Given the description of an element on the screen output the (x, y) to click on. 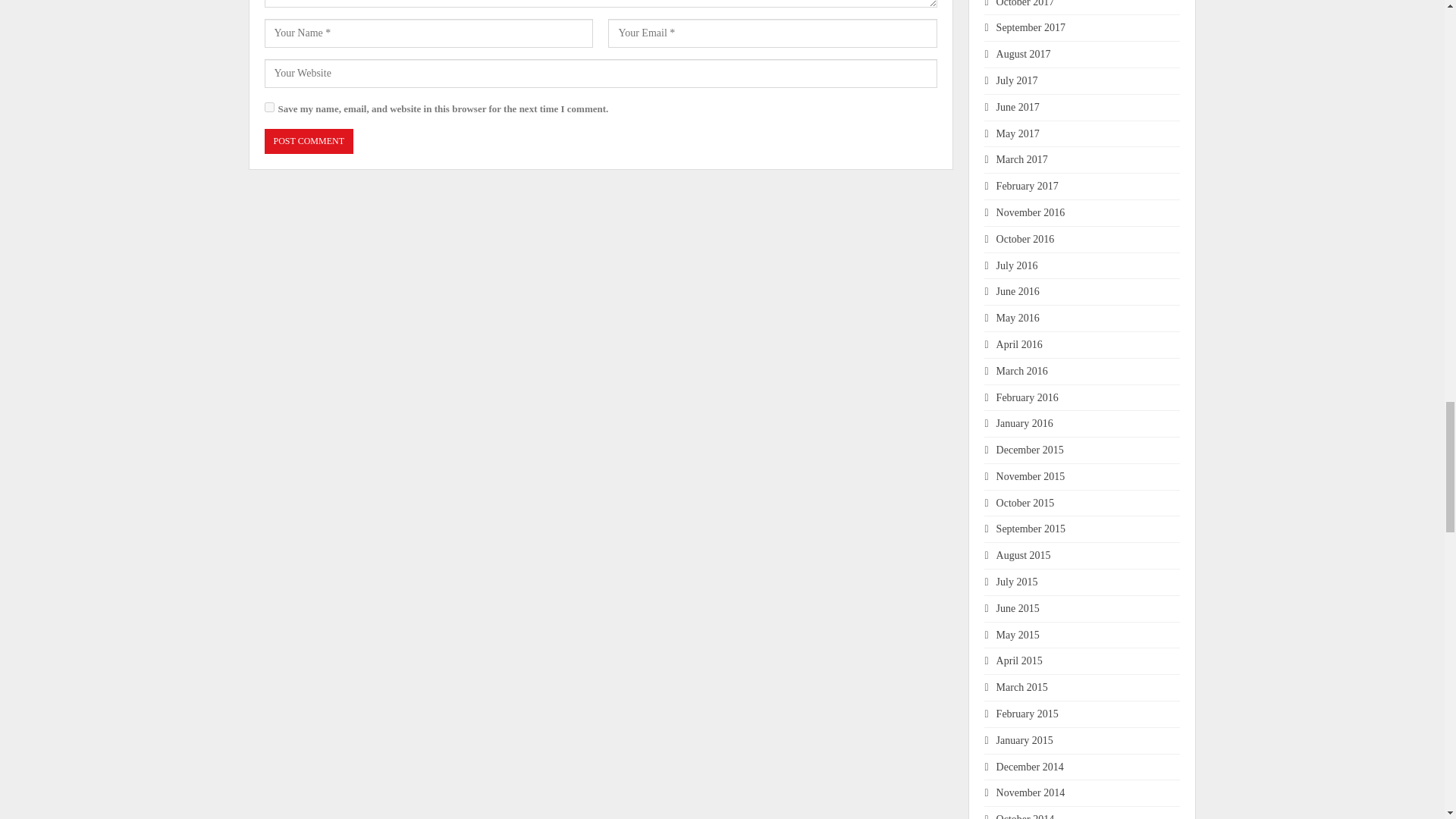
Post Comment (307, 140)
yes (268, 107)
